Given the description of an element on the screen output the (x, y) to click on. 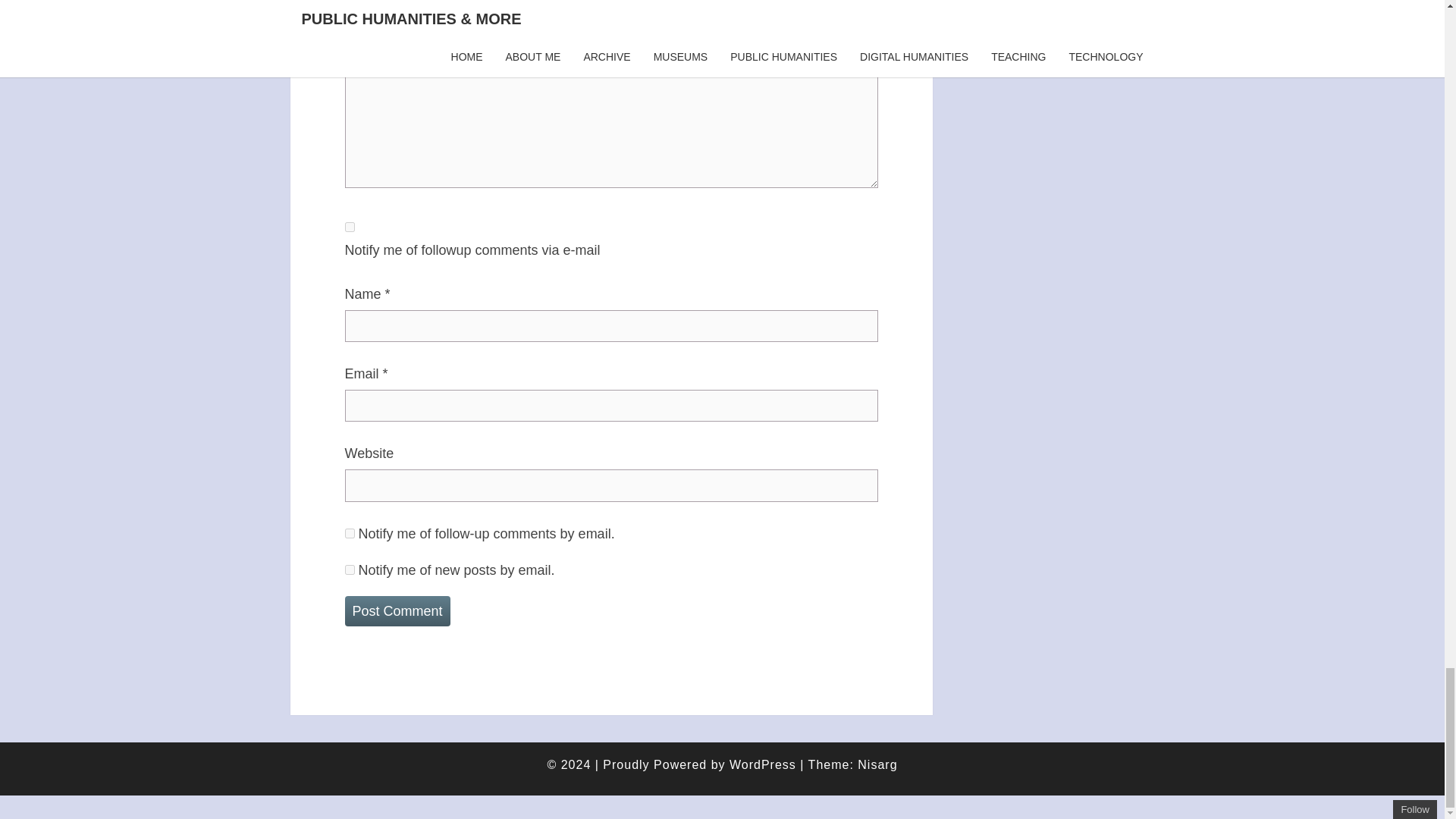
subscribe (348, 569)
Post Comment (396, 611)
subscribe (348, 226)
subscribe (348, 533)
